Given the description of an element on the screen output the (x, y) to click on. 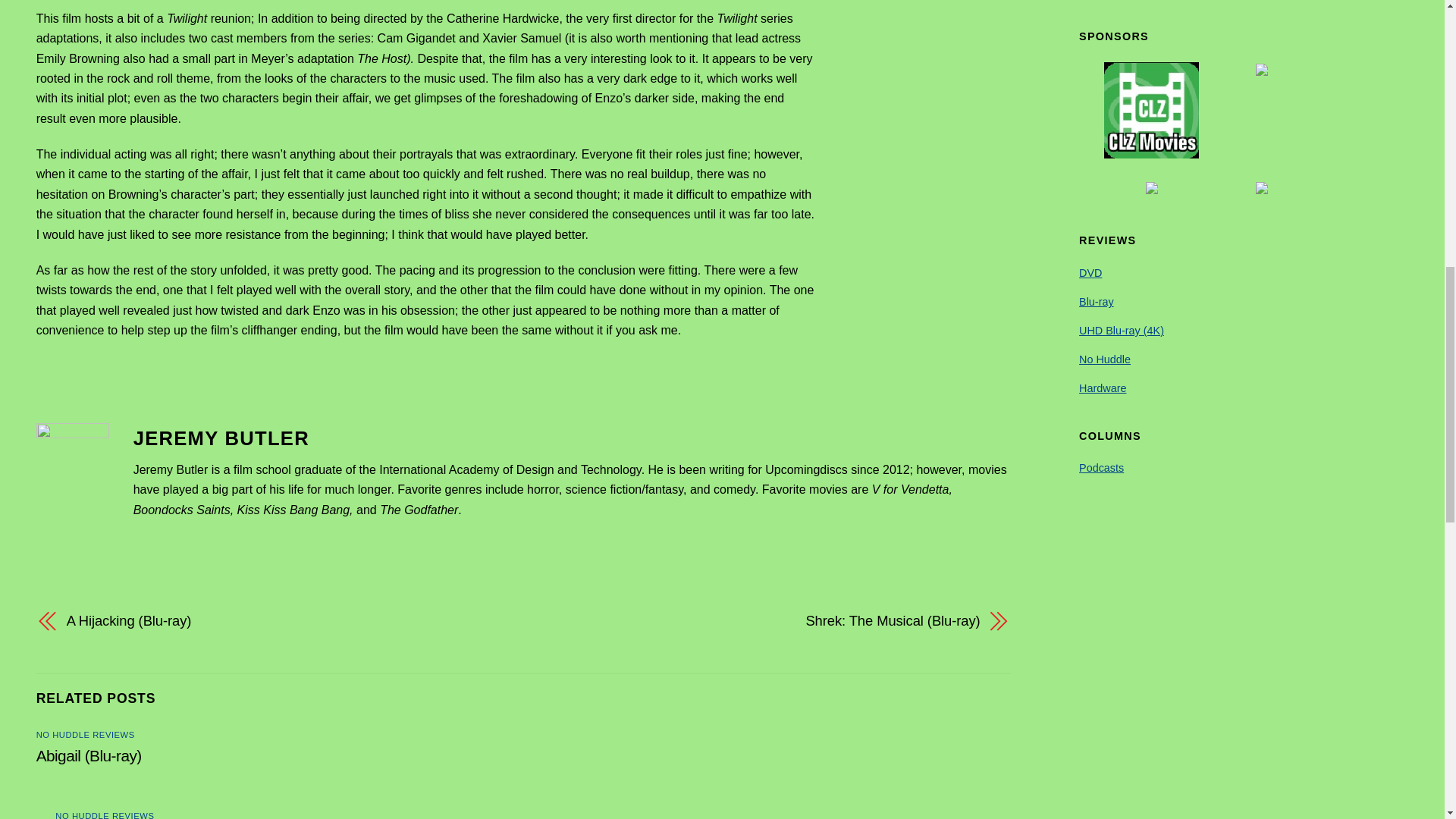
NO HUDDLE REVIEWS (104, 815)
No Huddle (1104, 358)
Hardware (1101, 387)
Podcasts (1101, 467)
Blu-ray (1095, 301)
DVD (1090, 272)
NO HUDDLE REVIEWS (85, 734)
